Given the description of an element on the screen output the (x, y) to click on. 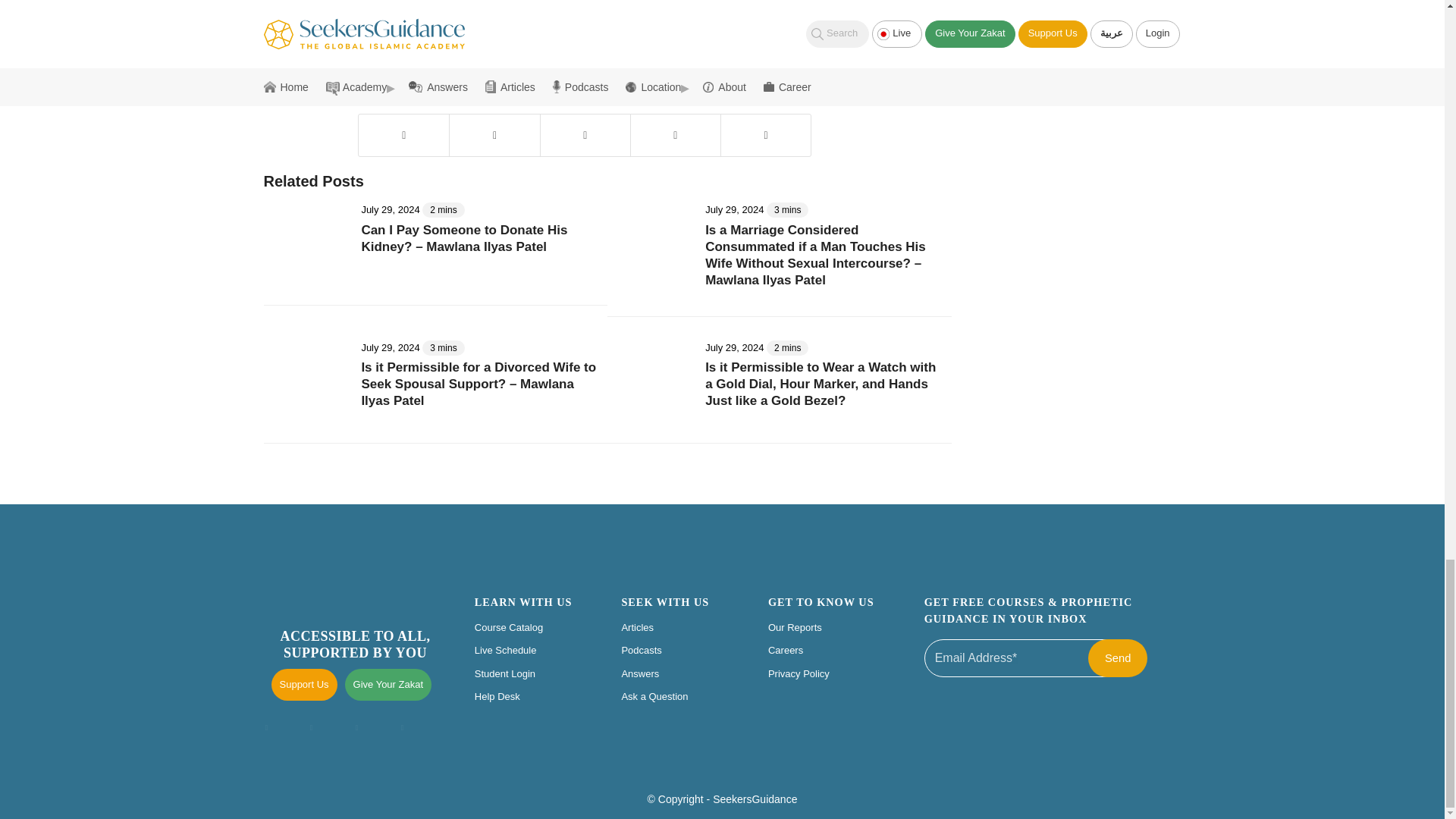
send (1117, 658)
divorce (403, 52)
